Given the description of an element on the screen output the (x, y) to click on. 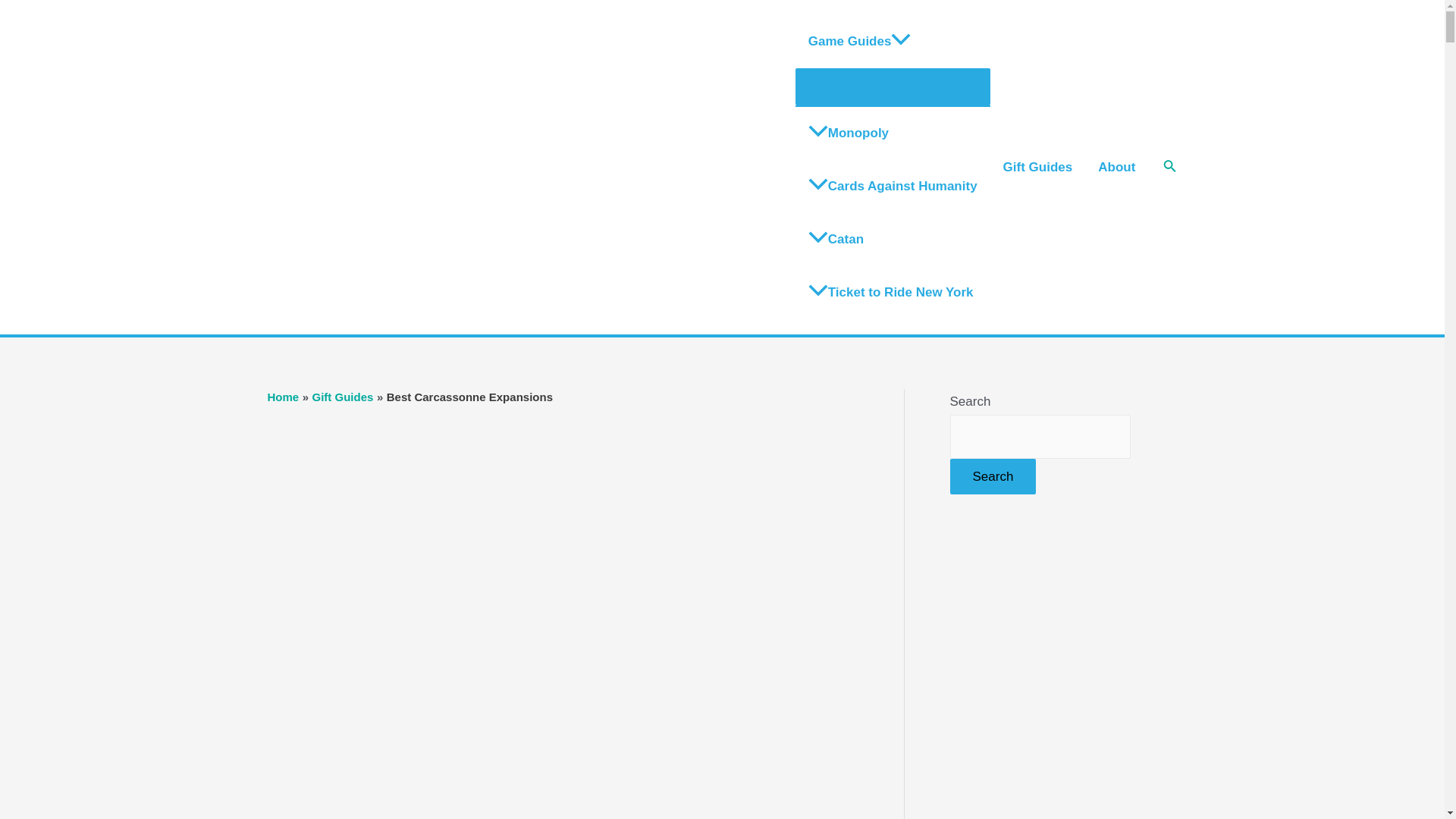
Menu Toggle (892, 86)
Game Guides (892, 41)
Home (282, 396)
Cards Against Humanity (892, 185)
Catan (892, 239)
Ticket to Ride New York (892, 292)
Gift Guides (343, 396)
Monopoly (892, 133)
